Given the description of an element on the screen output the (x, y) to click on. 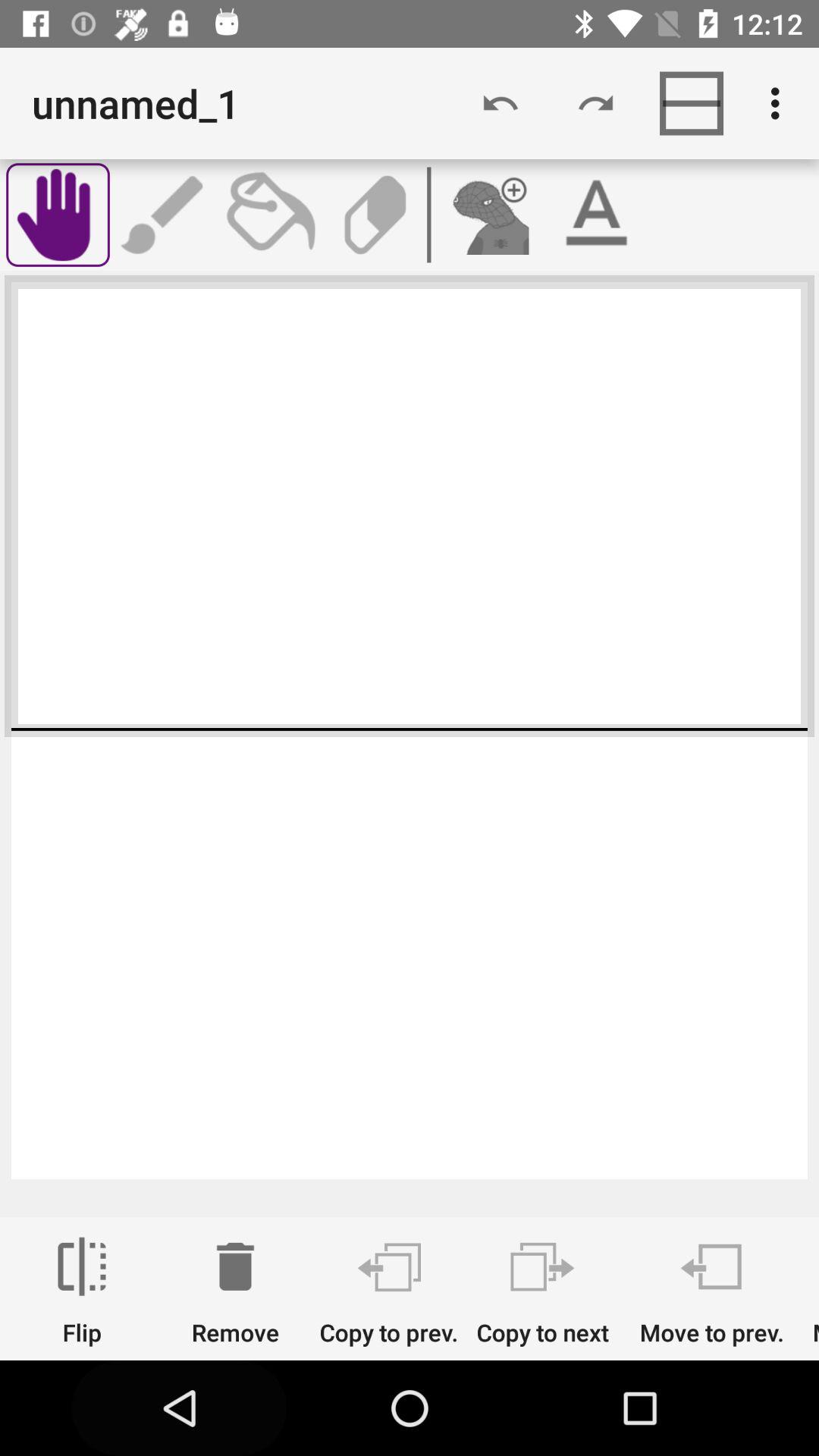
click the item to the left of the copy to prev. item (235, 1291)
